Given the description of an element on the screen output the (x, y) to click on. 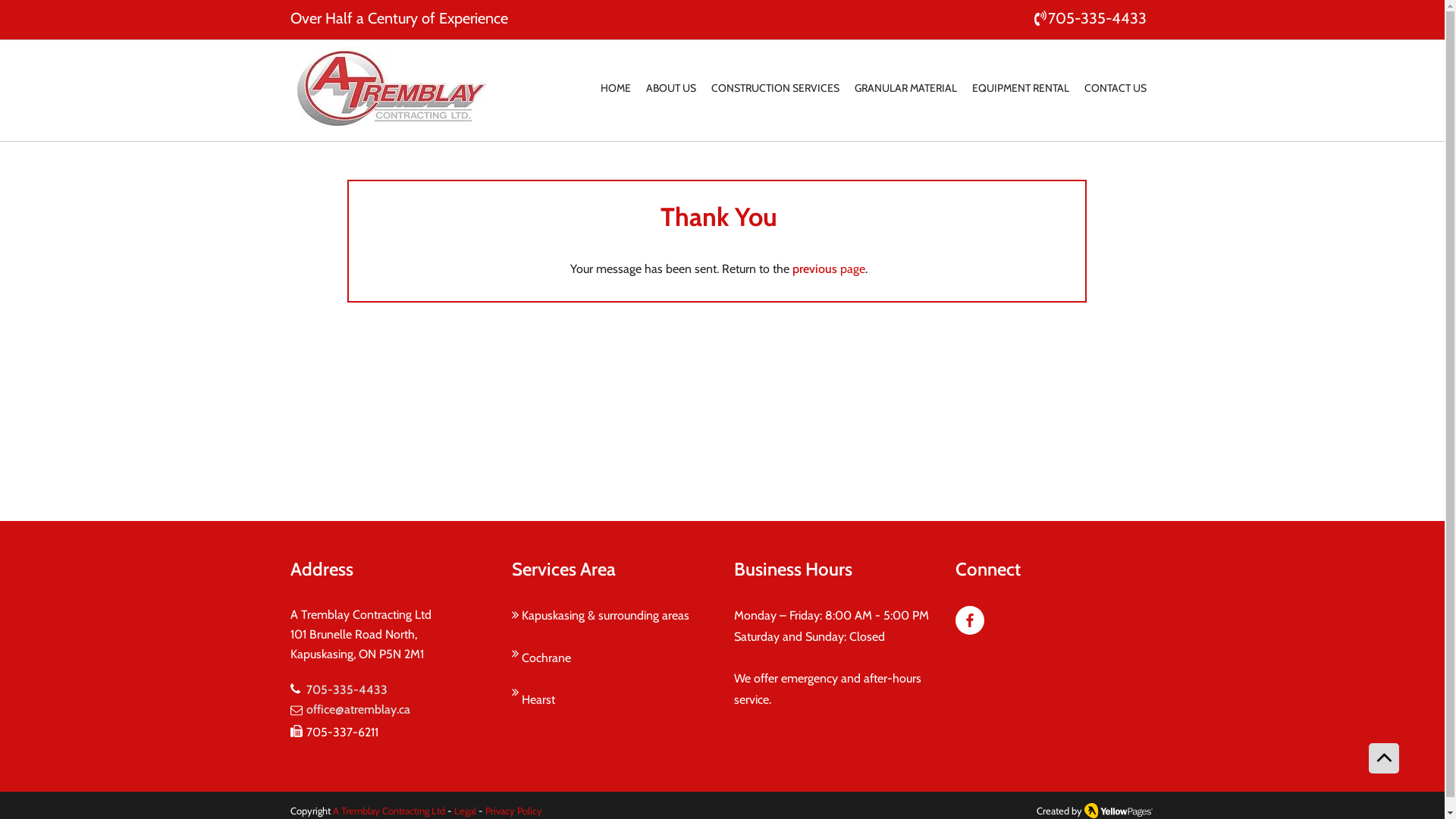
EQUIPMENT RENTAL Element type: text (1020, 89)
HOME Element type: text (615, 89)
ABOUT US Element type: text (671, 89)
Privacy Policy Element type: text (511, 810)
CONTACT US Element type: text (1115, 89)
705-335-4433 Element type: text (346, 689)
previous page Element type: text (827, 268)
Legal Element type: text (463, 810)
A Tremblay Contracting Ltd Element type: text (388, 810)
CONSTRUCTION SERVICES Element type: text (775, 89)
 705-335-4433 Element type: text (1089, 18)
office@atremblay.ca Element type: text (358, 709)
GRANULAR MATERIAL Element type: text (904, 89)
